Given the description of an element on the screen output the (x, y) to click on. 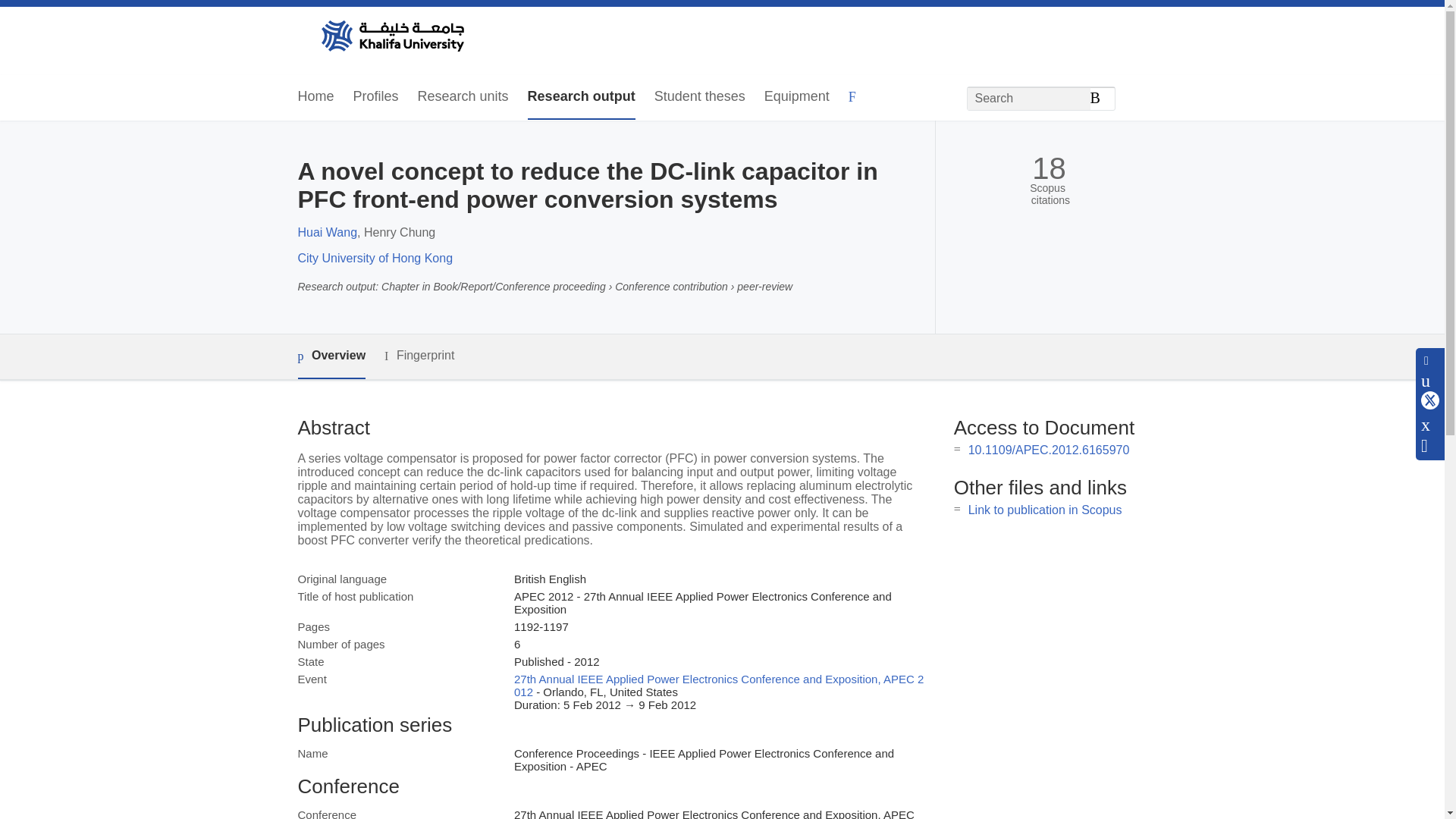
Profiles (375, 97)
Student theses (699, 97)
Equipment (796, 97)
Huai Wang (326, 232)
Link to publication in Scopus (1045, 509)
Fingerprint (419, 355)
Research output (580, 97)
Overview (331, 356)
